Given the description of an element on the screen output the (x, y) to click on. 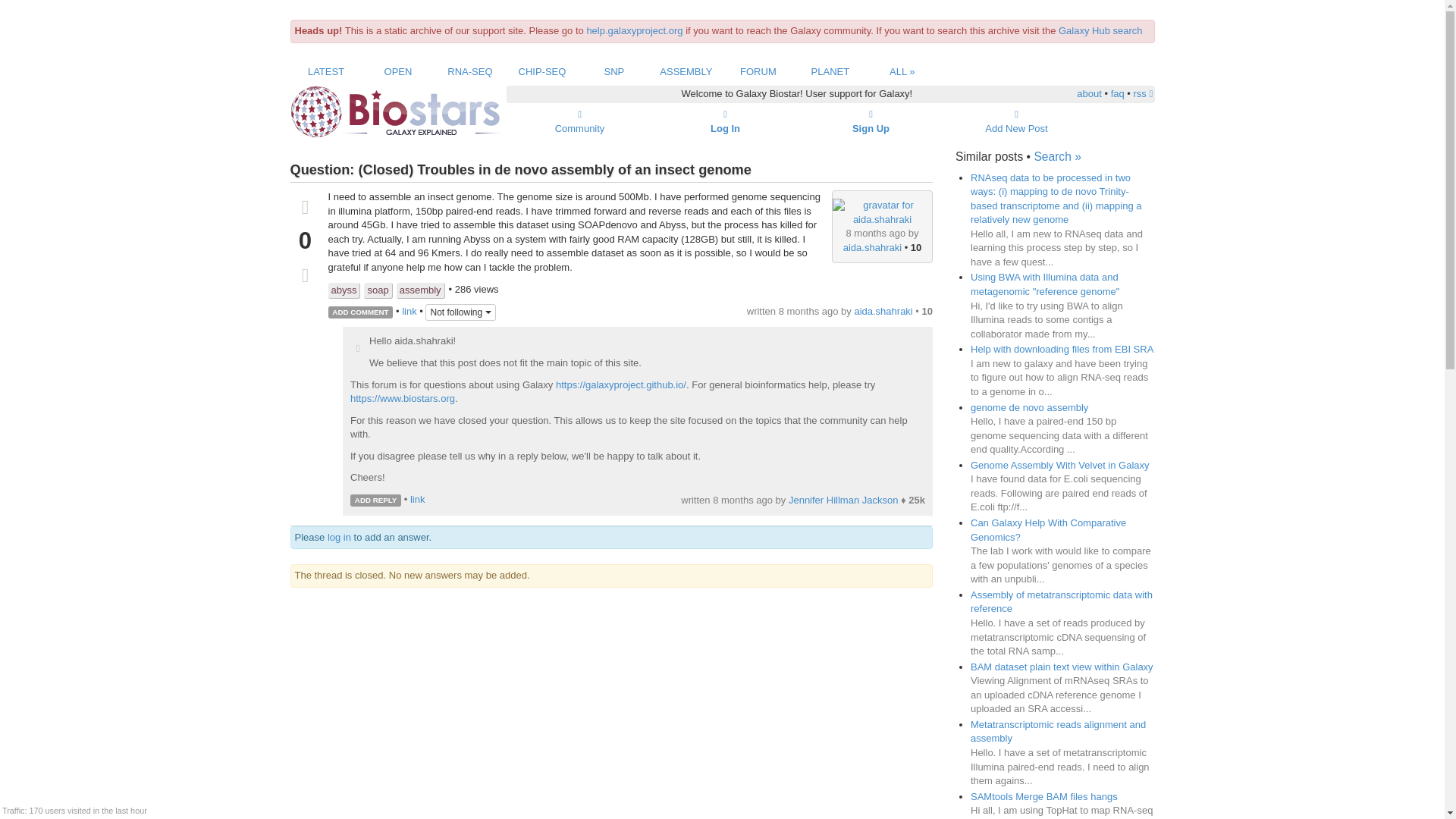
Upvote! (357, 349)
abyss (343, 289)
FORUM (757, 71)
LATEST (325, 71)
Sign Up (870, 121)
aida.shahraki (872, 247)
CHIP-SEQ (542, 71)
OPEN (398, 71)
Log In (724, 121)
assembly (420, 289)
